Given the description of an element on the screen output the (x, y) to click on. 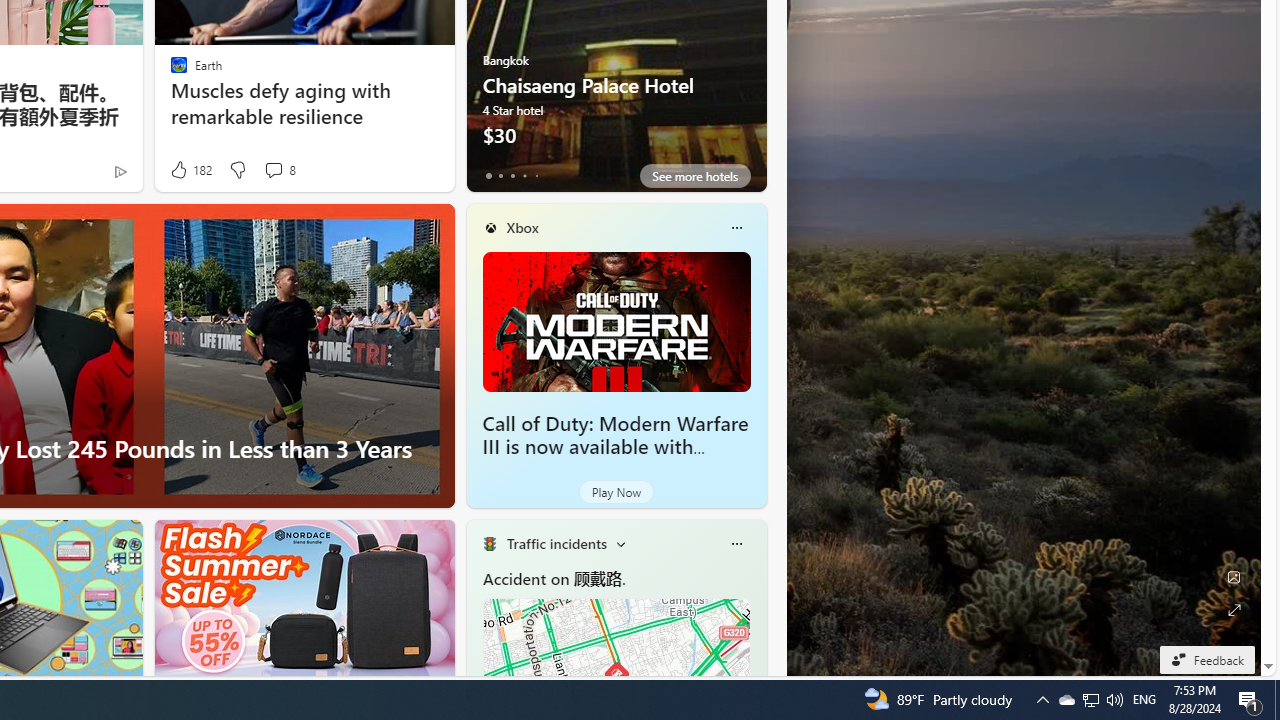
Play Now (616, 491)
tab-3 (524, 175)
182 Like (190, 170)
Expand background (1233, 610)
View comments 8 Comment (273, 169)
Xbox (521, 227)
